Given the description of an element on the screen output the (x, y) to click on. 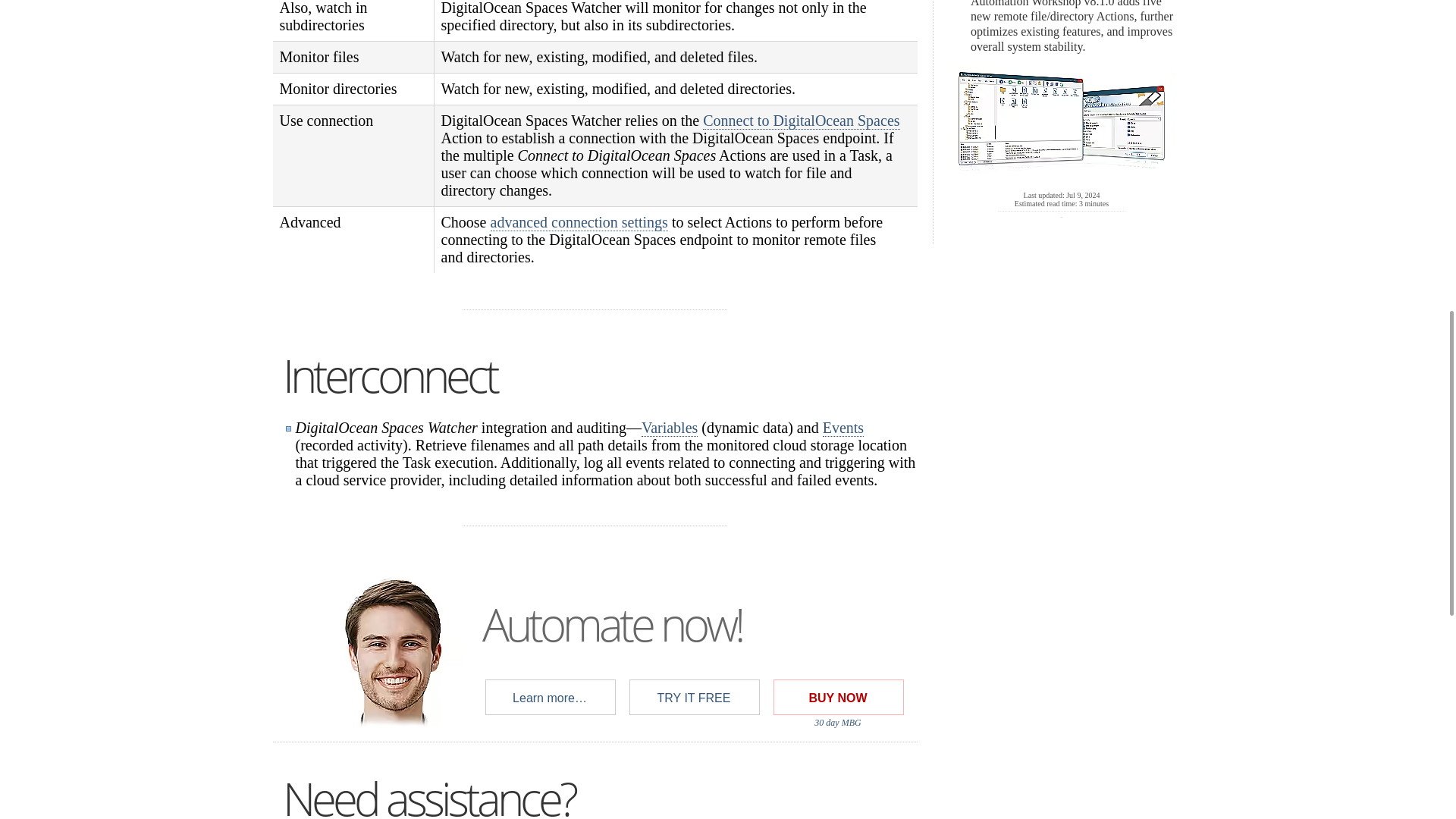
BUY NOW (837, 697)
Events (842, 427)
Connect to DigitalOcean Spaces (801, 120)
30 day MBG (836, 722)
advanced connection settings (577, 221)
TRY IT FREE (693, 697)
Variables (669, 427)
